Given the description of an element on the screen output the (x, y) to click on. 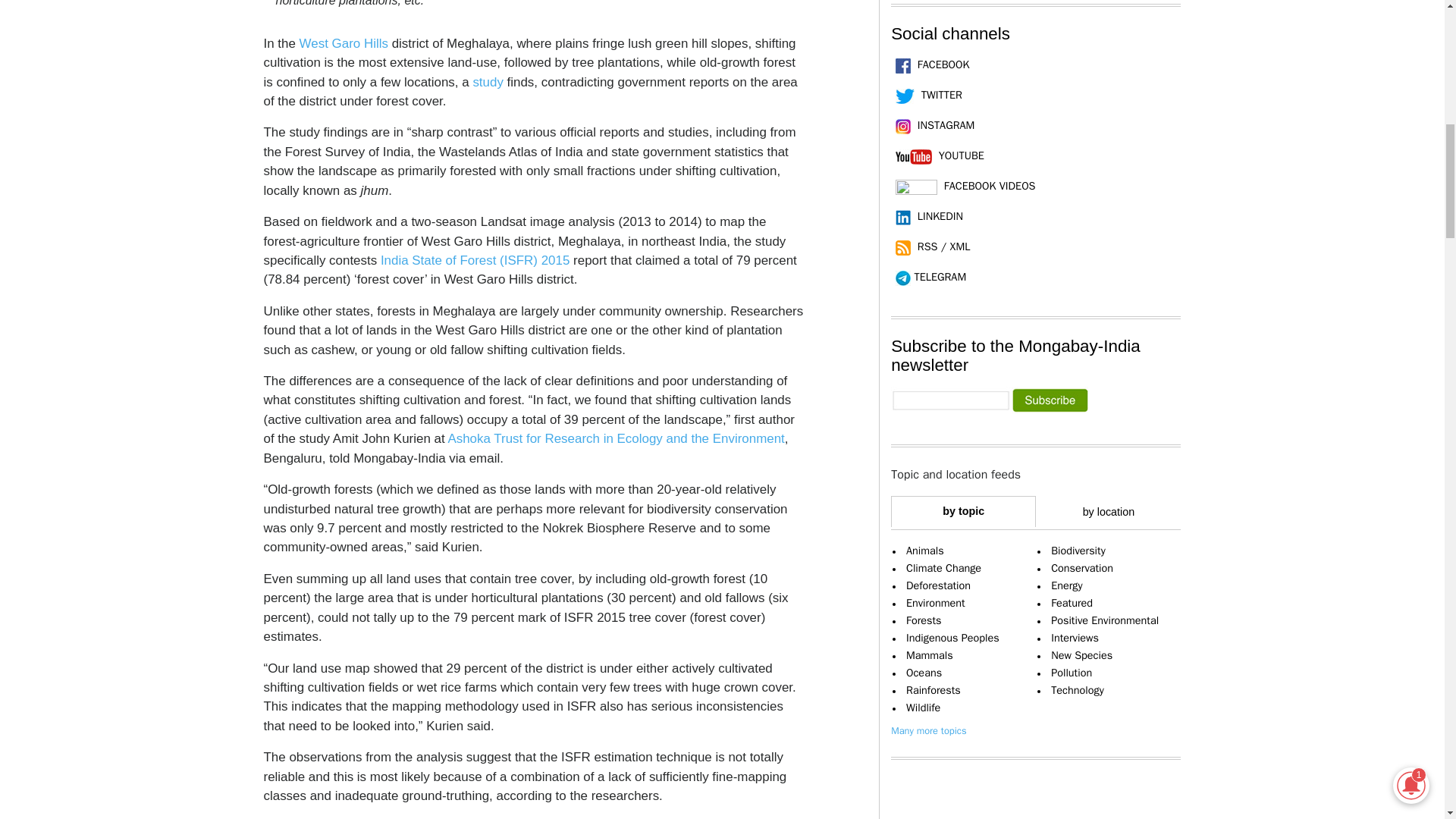
  FACEBOOK (930, 64)
study (486, 82)
Ashoka Trust for Research in Ecology and the Environment (615, 438)
West Garo Hills (343, 43)
